Given the description of an element on the screen output the (x, y) to click on. 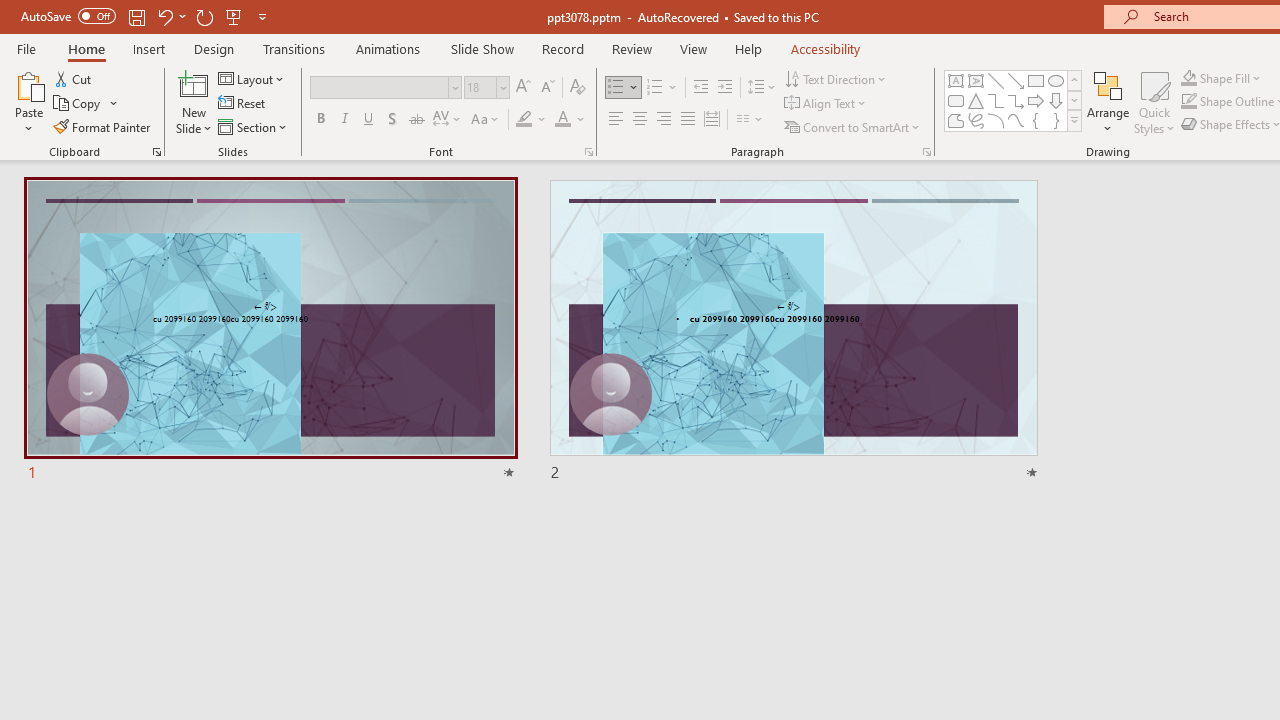
Character Spacing (447, 119)
Center (639, 119)
Paragraph... (926, 151)
Line Spacing (762, 87)
Rectangle: Rounded Corners (955, 100)
Decrease Font Size (547, 87)
Align Left (616, 119)
Office Clipboard... (156, 151)
Justify (687, 119)
